Given the description of an element on the screen output the (x, y) to click on. 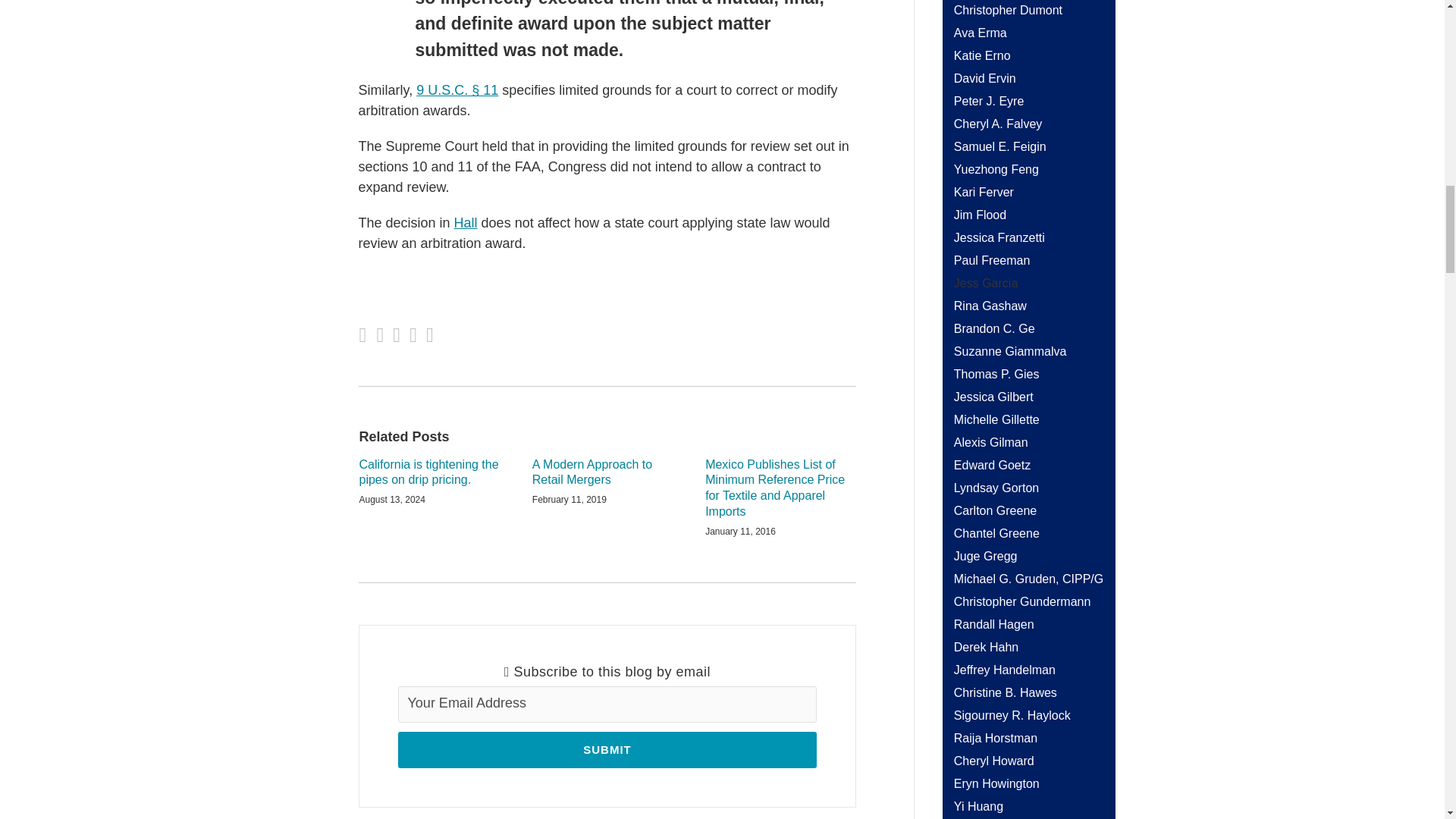
Submit (606, 750)
Hall (465, 222)
Submit (606, 750)
A Modern Approach to Retail Mergers (607, 472)
California is tightening the pipes on drip pricing.    (434, 472)
